Given the description of an element on the screen output the (x, y) to click on. 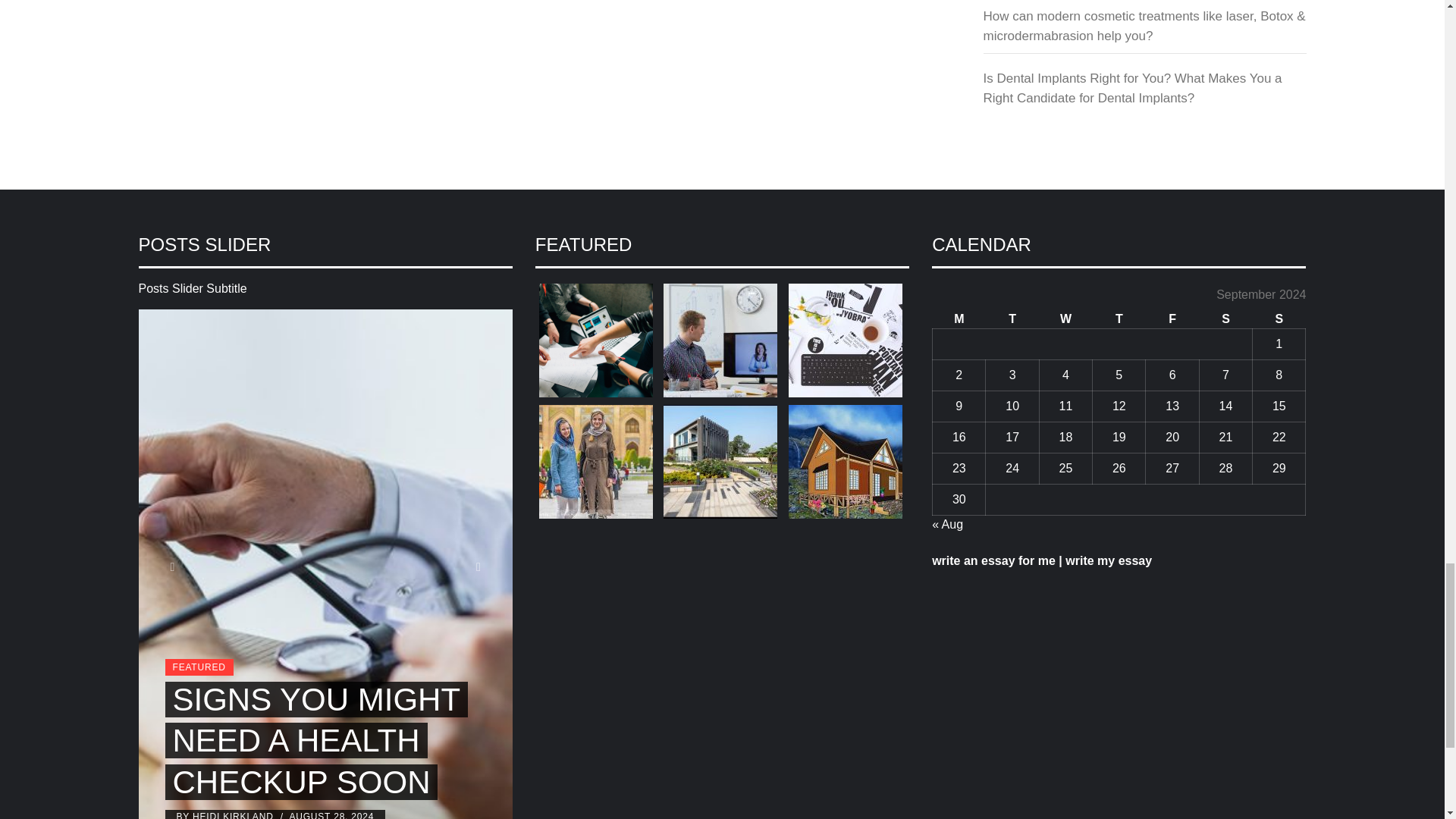
Tuesday (1012, 319)
Thursday (1119, 319)
Sunday (1279, 319)
Wednesday (1065, 319)
Saturday (1225, 319)
Monday (959, 319)
Friday (1171, 319)
